Given the description of an element on the screen output the (x, y) to click on. 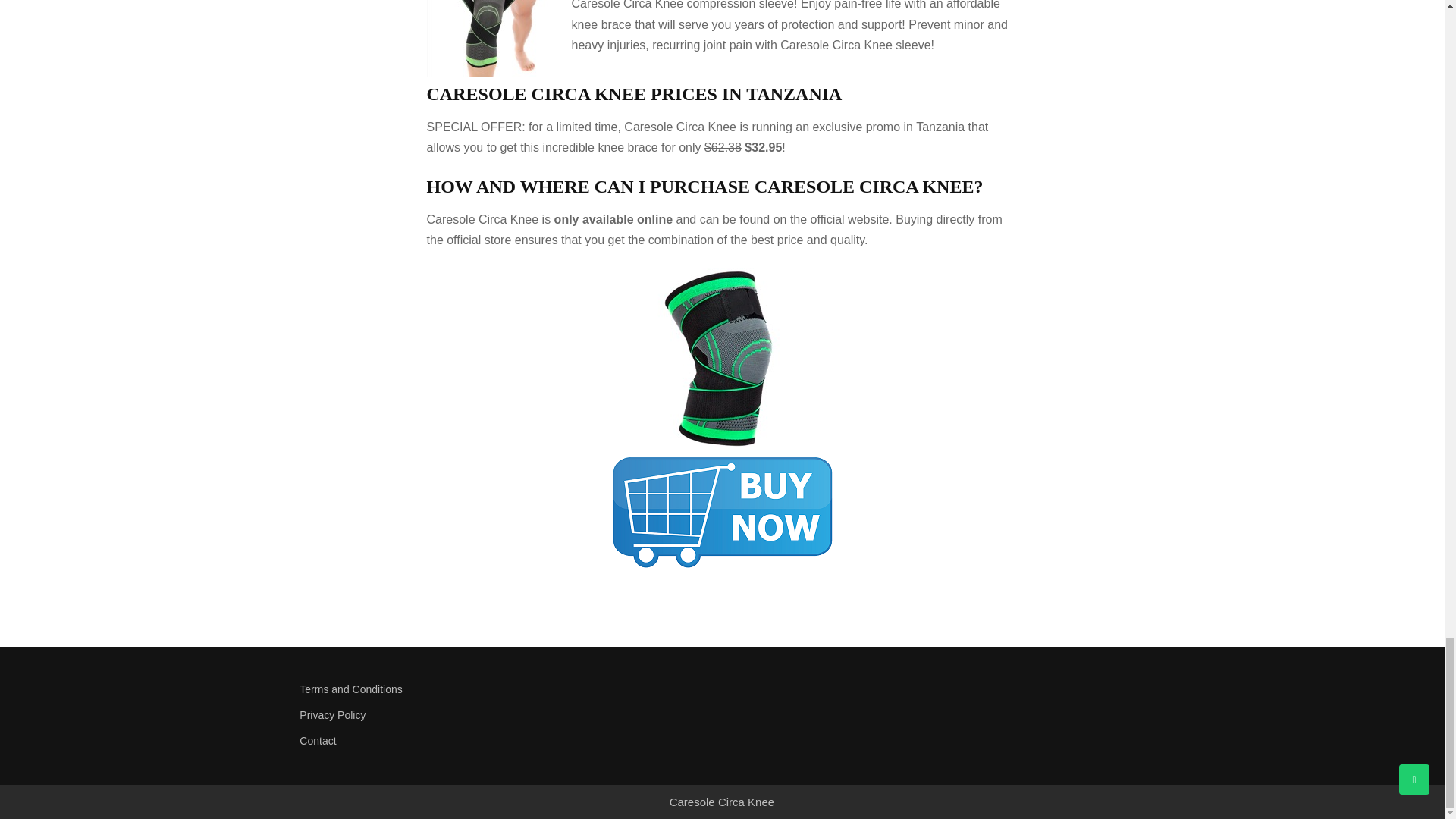
Terms and Conditions (376, 689)
Contact (376, 741)
Privacy Policy (376, 715)
